Given the description of an element on the screen output the (x, y) to click on. 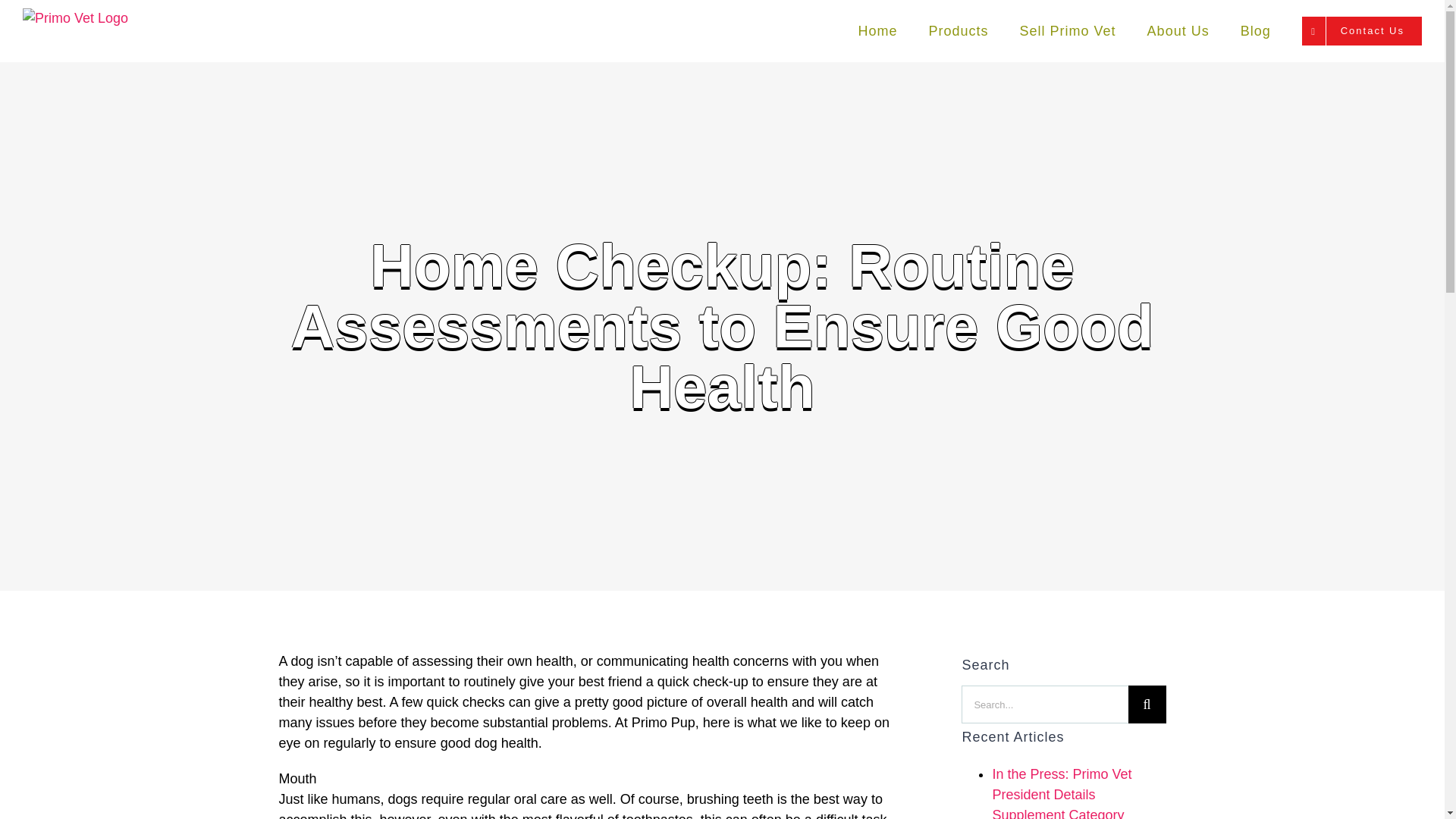
Products (958, 31)
Sell Primo Vet (1068, 31)
Contact Us (1361, 31)
About Us (1178, 31)
